Given the description of an element on the screen output the (x, y) to click on. 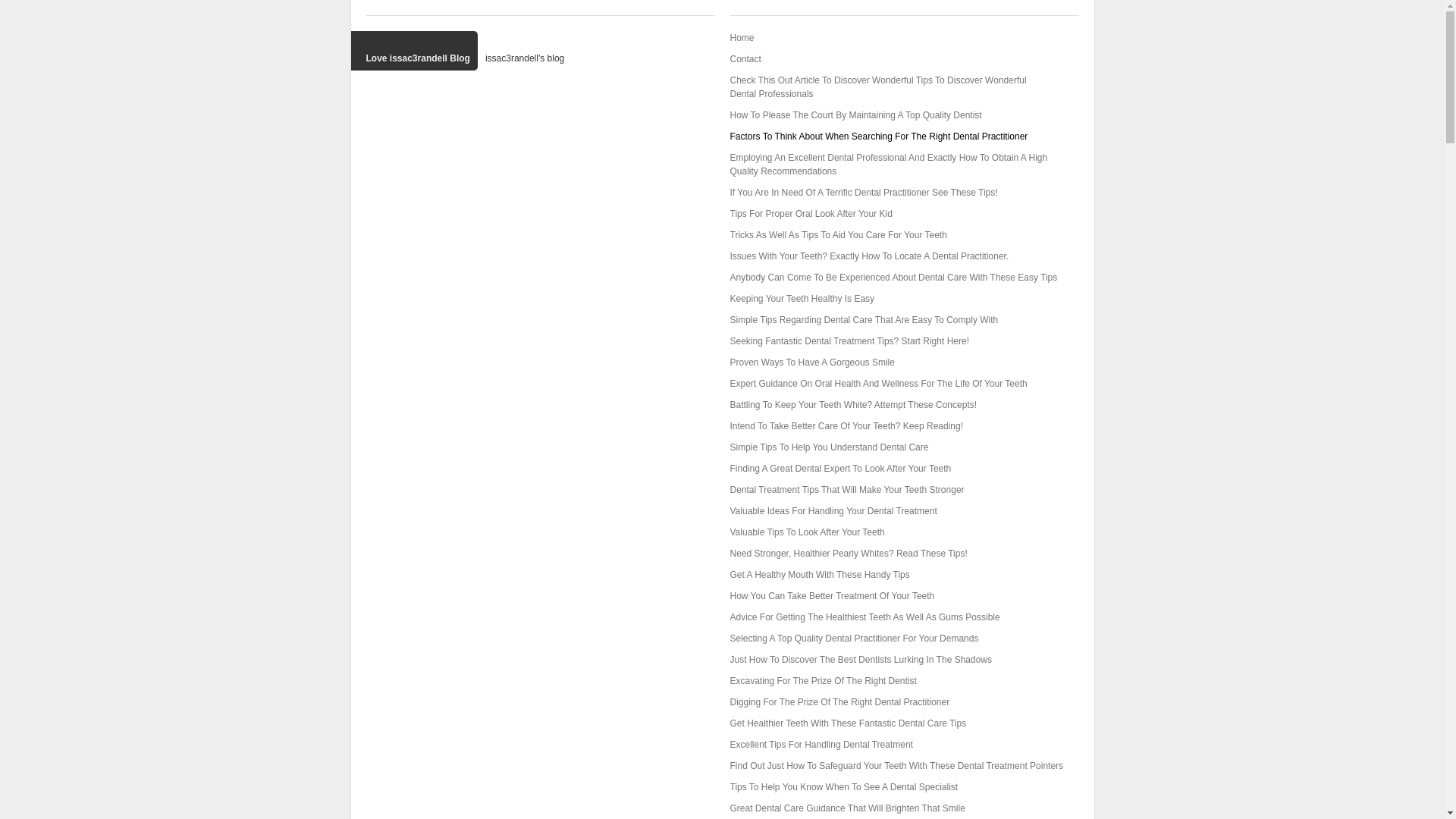
Valuable Ideas For Handling Your Dental Treatment (832, 511)
Love issac3randell Blog (413, 50)
Excellent Tips For Handling Dental Treatment (820, 744)
Great Dental Care Guidance That Will Brighten That Smile (846, 808)
Seeking Fantastic Dental Treatment Tips? Start Right Here! (848, 340)
Dental Treatment Tips That Will Make Your Teeth Stronger (846, 489)
Tips To Help You Know When To See A Dental Specialist (843, 787)
Intend To Take Better Care Of Your Teeth? Keep Reading! (845, 425)
How To Please The Court By Maintaining A Top Quality Dentist (855, 114)
Digging For The Prize Of The Right Dental Practitioner (839, 701)
Proven Ways To Have A Gorgeous Smile (811, 362)
